Given the description of an element on the screen output the (x, y) to click on. 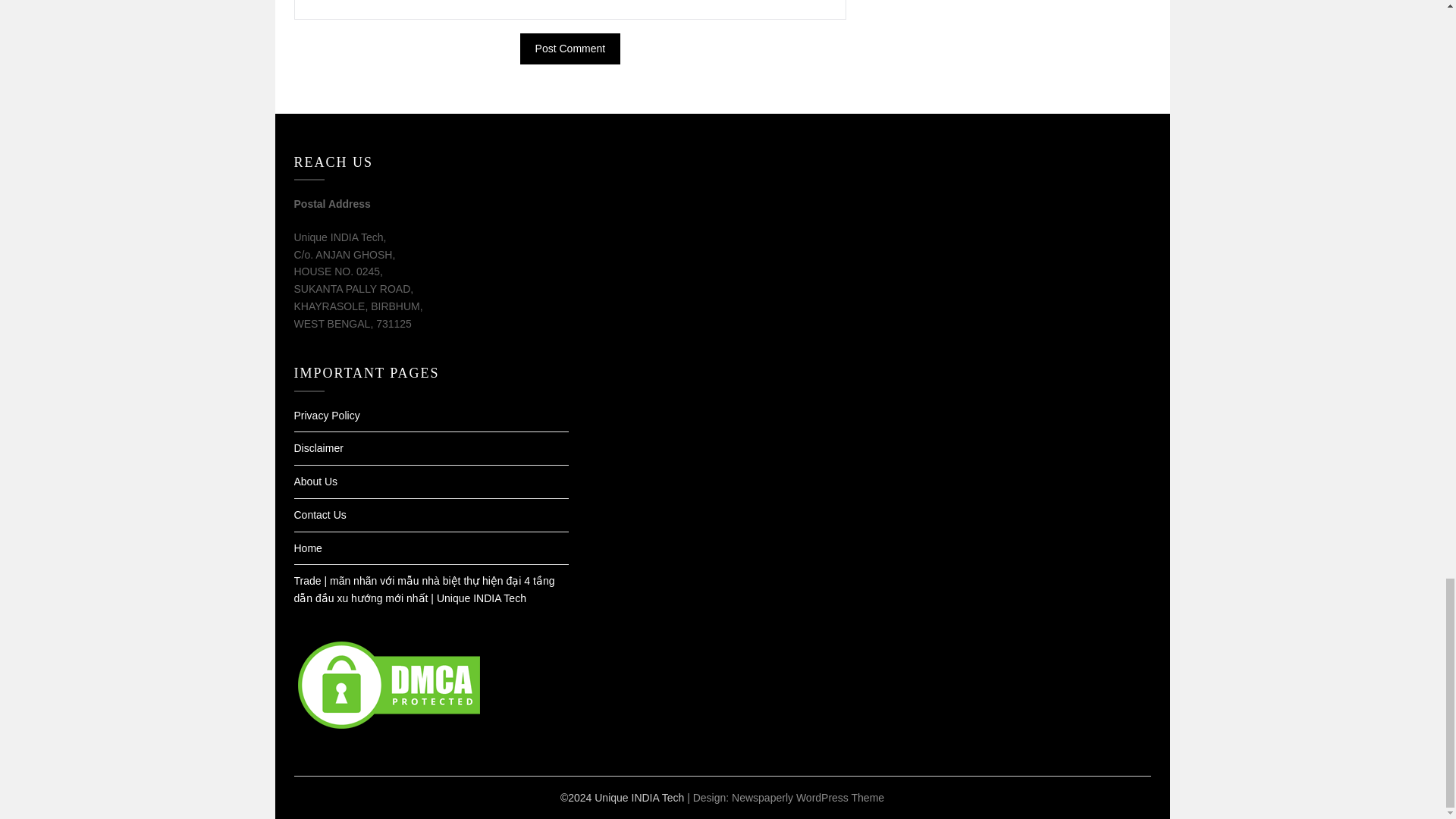
Disclaimer (318, 448)
Post Comment (570, 48)
Privacy Policy (326, 415)
Contact Us (320, 514)
Post Comment (570, 48)
About Us (315, 481)
Home (307, 548)
Content Protection by DMCA.com (388, 728)
Newspaperly WordPress Theme (807, 797)
